Given the description of an element on the screen output the (x, y) to click on. 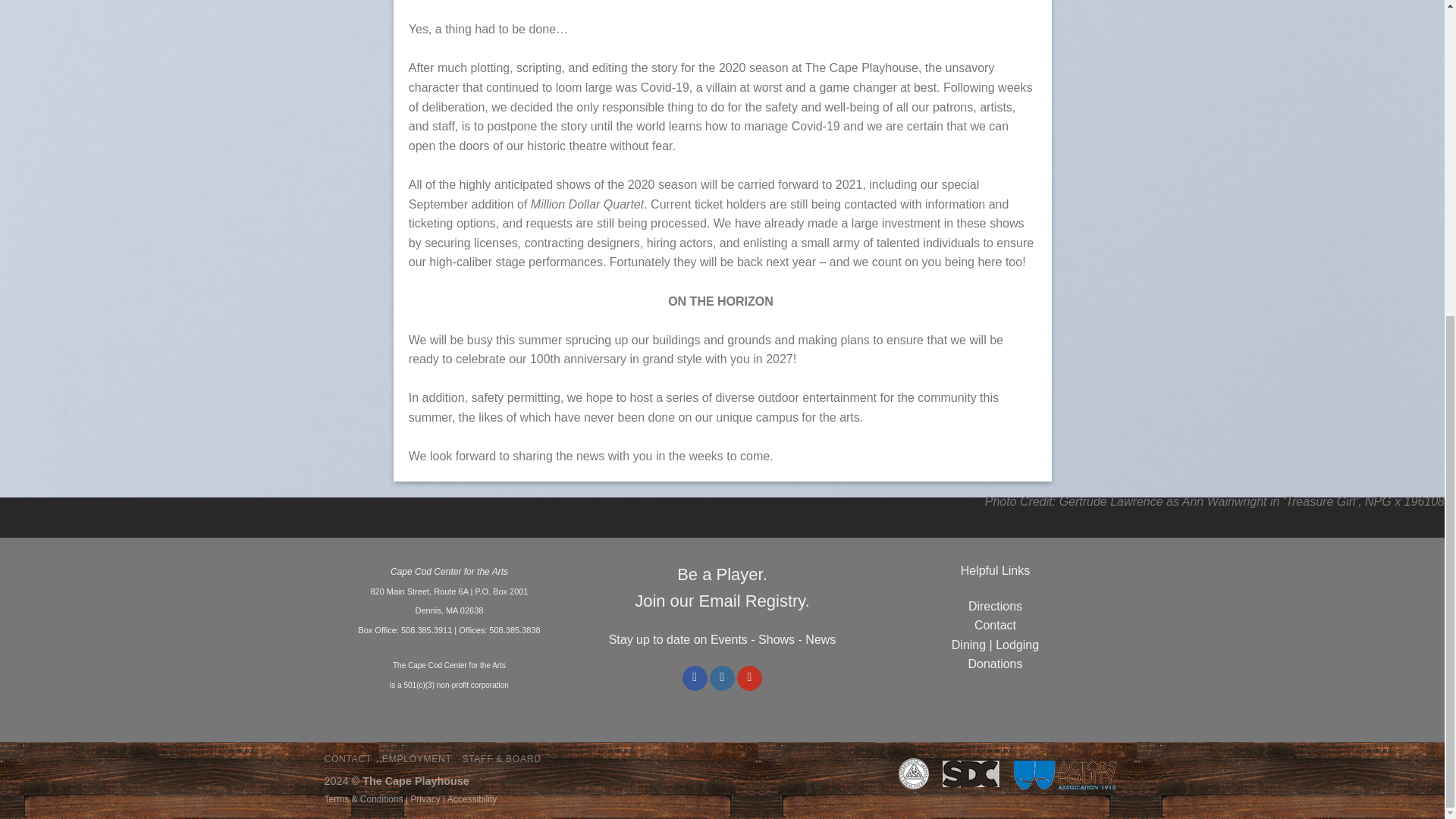
Follow on Instagram (722, 678)
Follow on Facebook (694, 678)
Follow on YouTube (748, 678)
